Given the description of an element on the screen output the (x, y) to click on. 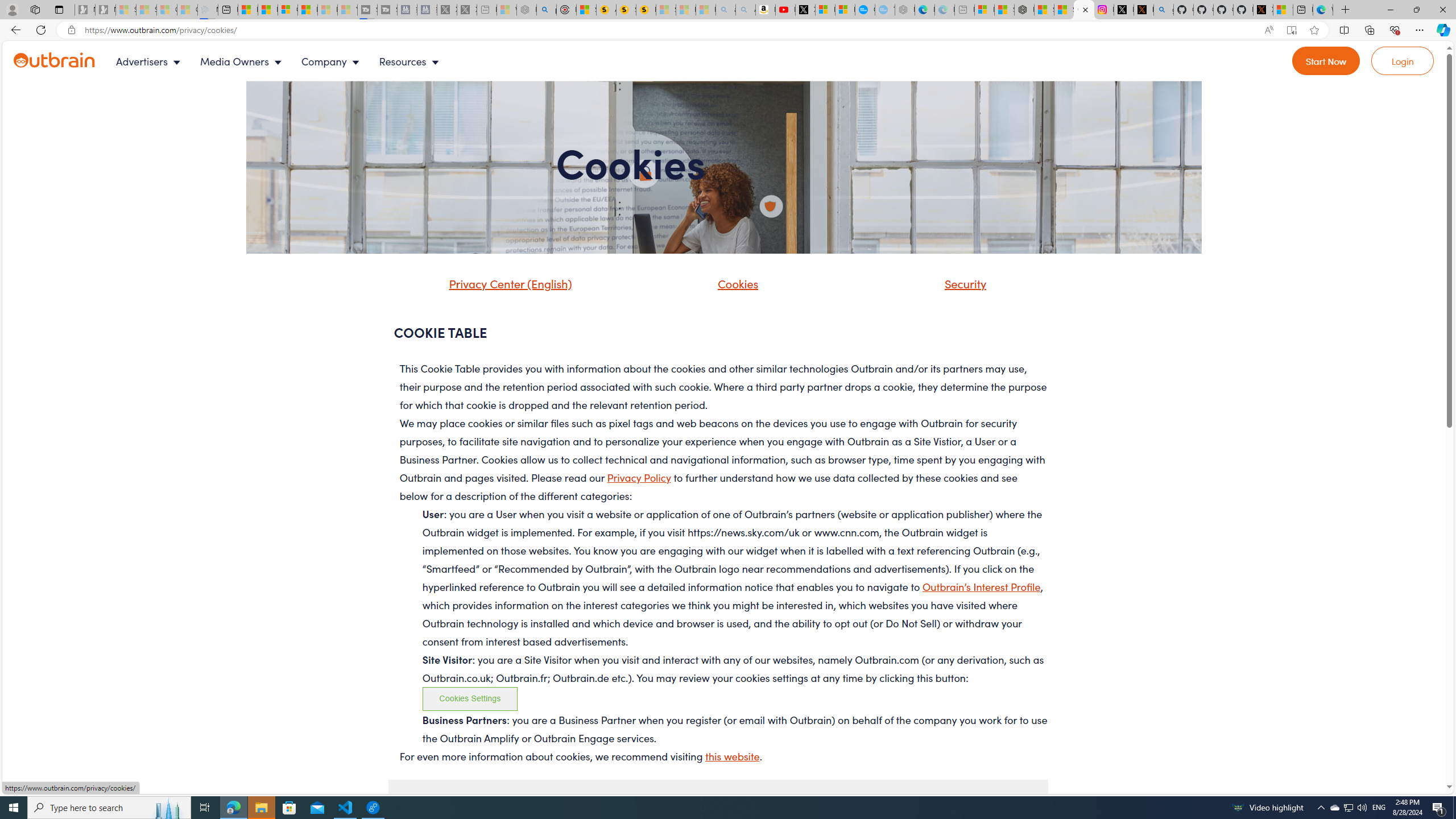
Advertisers (151, 61)
Security (951, 287)
poe - Search (546, 9)
Outbrain logo - link to homepage (67, 61)
help.x.com | 524: A timeout occurred (1143, 9)
